Given the description of an element on the screen output the (x, y) to click on. 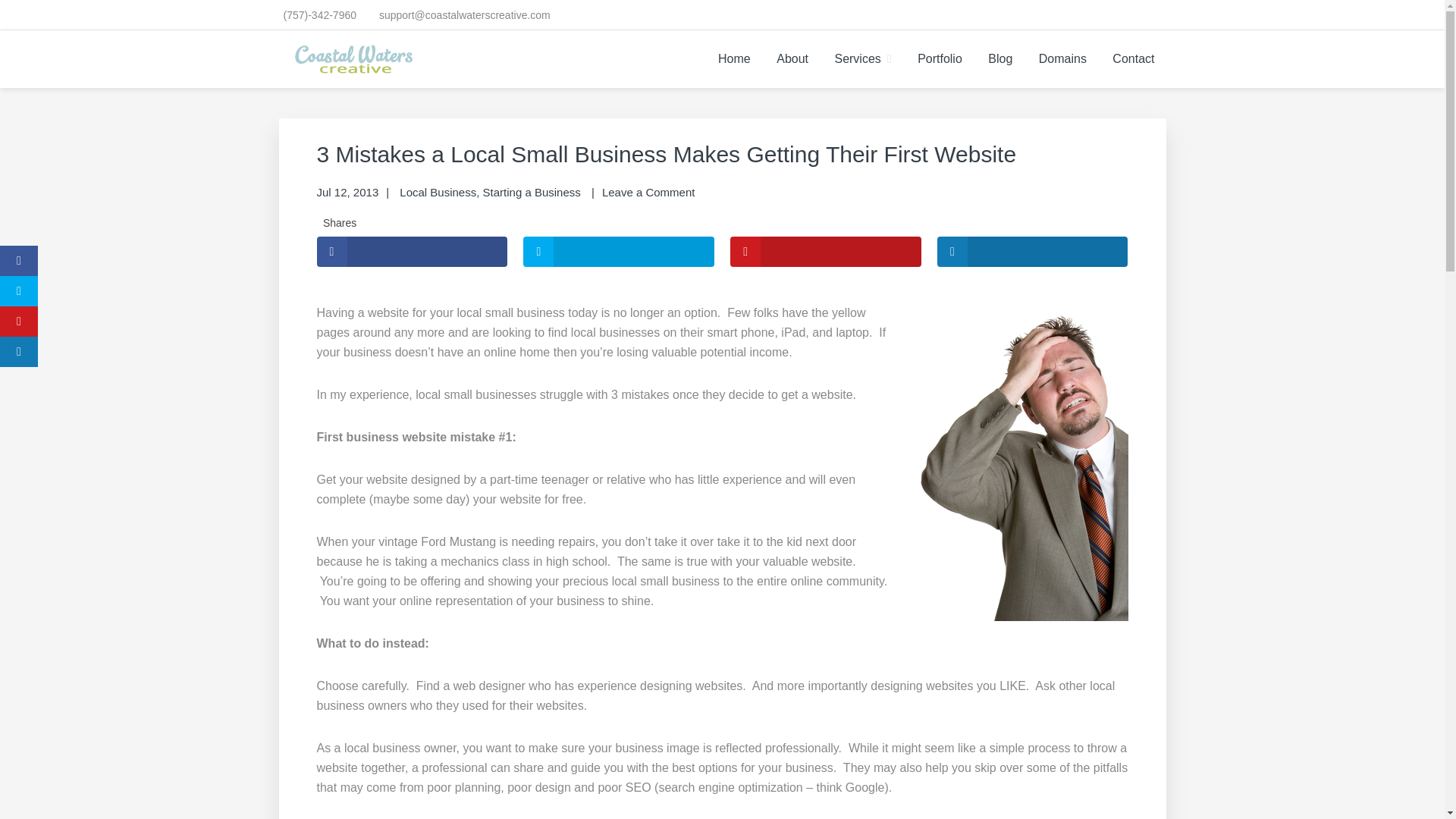
Leave a Comment (648, 192)
Services (862, 58)
Home (733, 58)
COASTAL WATERS CREATIVE (494, 94)
Portfolio (939, 58)
Domains (1062, 58)
About (792, 58)
Blog (999, 58)
Local Business (437, 192)
Starting a Business (531, 192)
Contact (1133, 58)
